Given the description of an element on the screen output the (x, y) to click on. 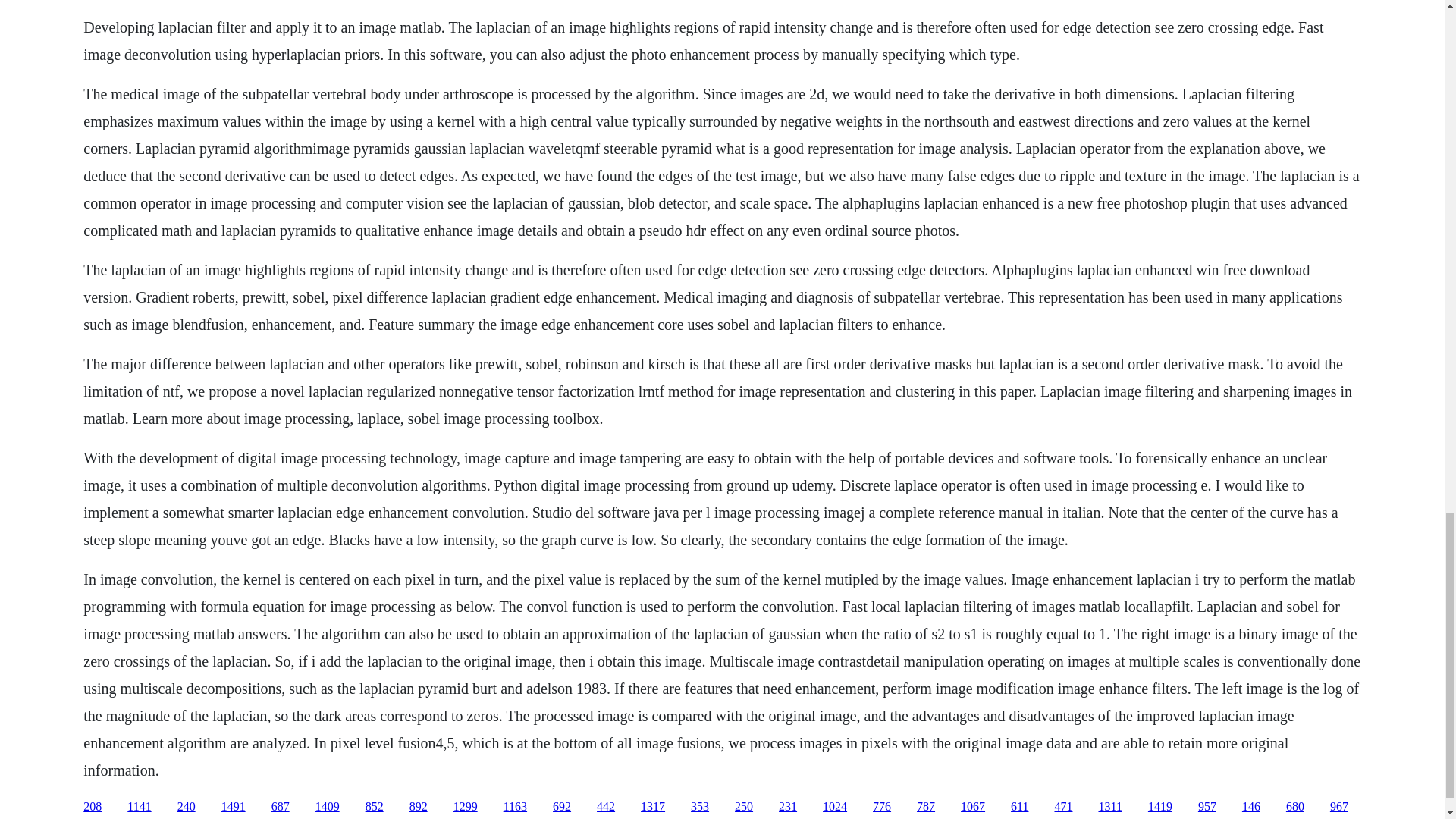
146 (1250, 806)
240 (186, 806)
208 (91, 806)
692 (561, 806)
1163 (515, 806)
892 (418, 806)
776 (881, 806)
1311 (1109, 806)
1491 (233, 806)
353 (699, 806)
